Given the description of an element on the screen output the (x, y) to click on. 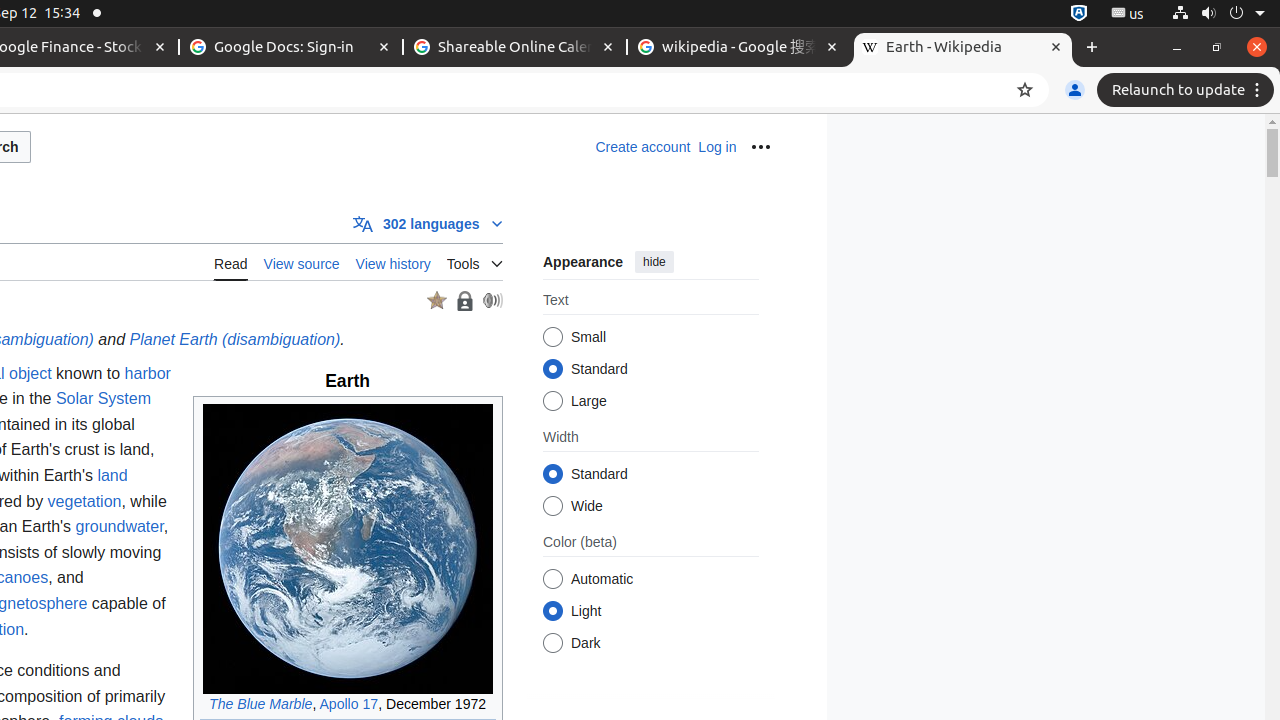
Apollo 17 Element type: link (349, 703)
:1.21/StatusNotifierItem Element type: menu (1127, 13)
Log in Element type: link (717, 147)
You Element type: push-button (1075, 90)
View source Element type: link (301, 262)
